Given the description of an element on the screen output the (x, y) to click on. 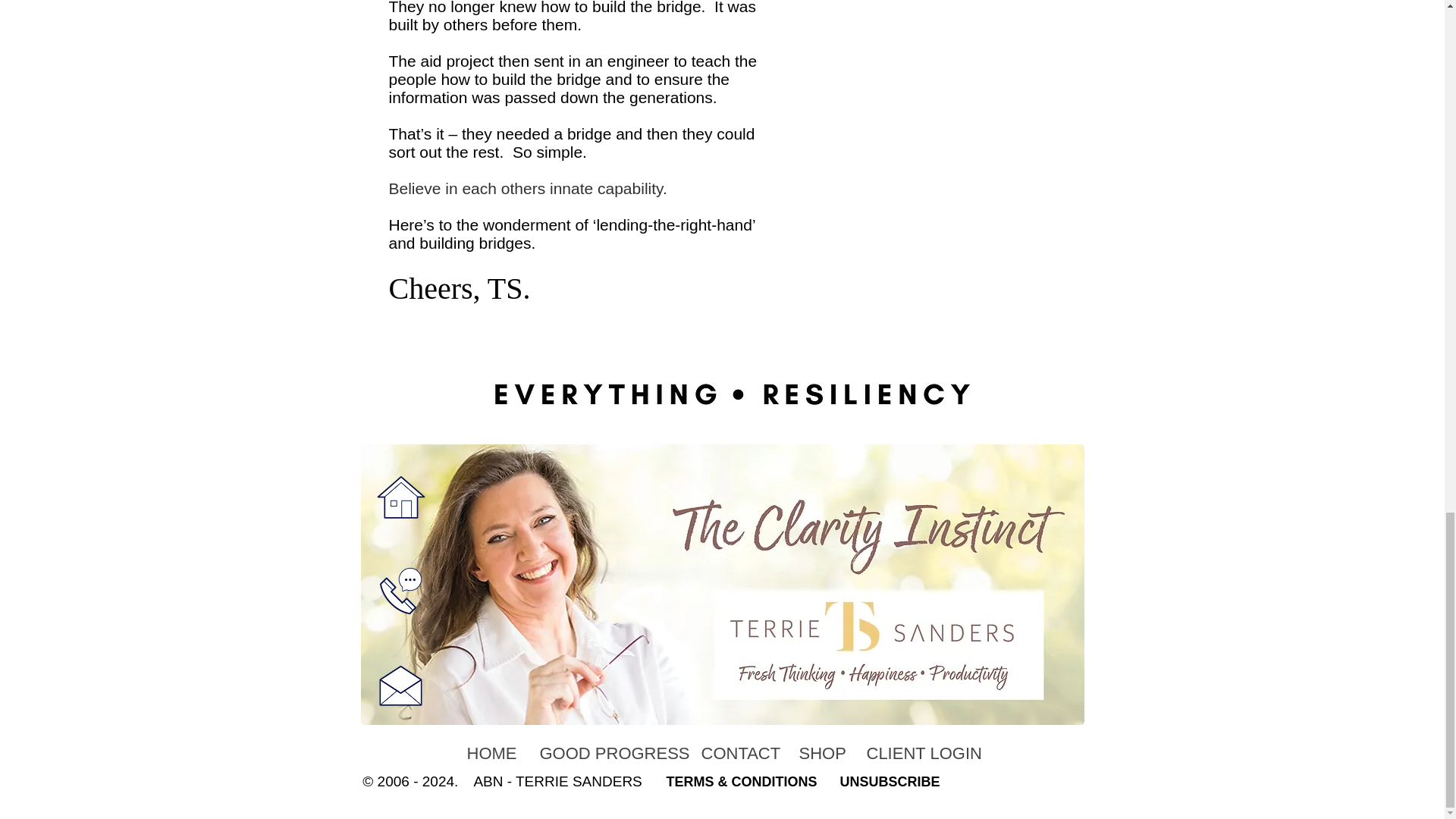
SHOP (820, 753)
CLIENT LOGIN (920, 753)
CONTACT (737, 753)
GOOD PROGRESS (607, 753)
S      (824, 781)
UNSUBSCRIBE (889, 781)
HOME (490, 753)
